Given the description of an element on the screen output the (x, y) to click on. 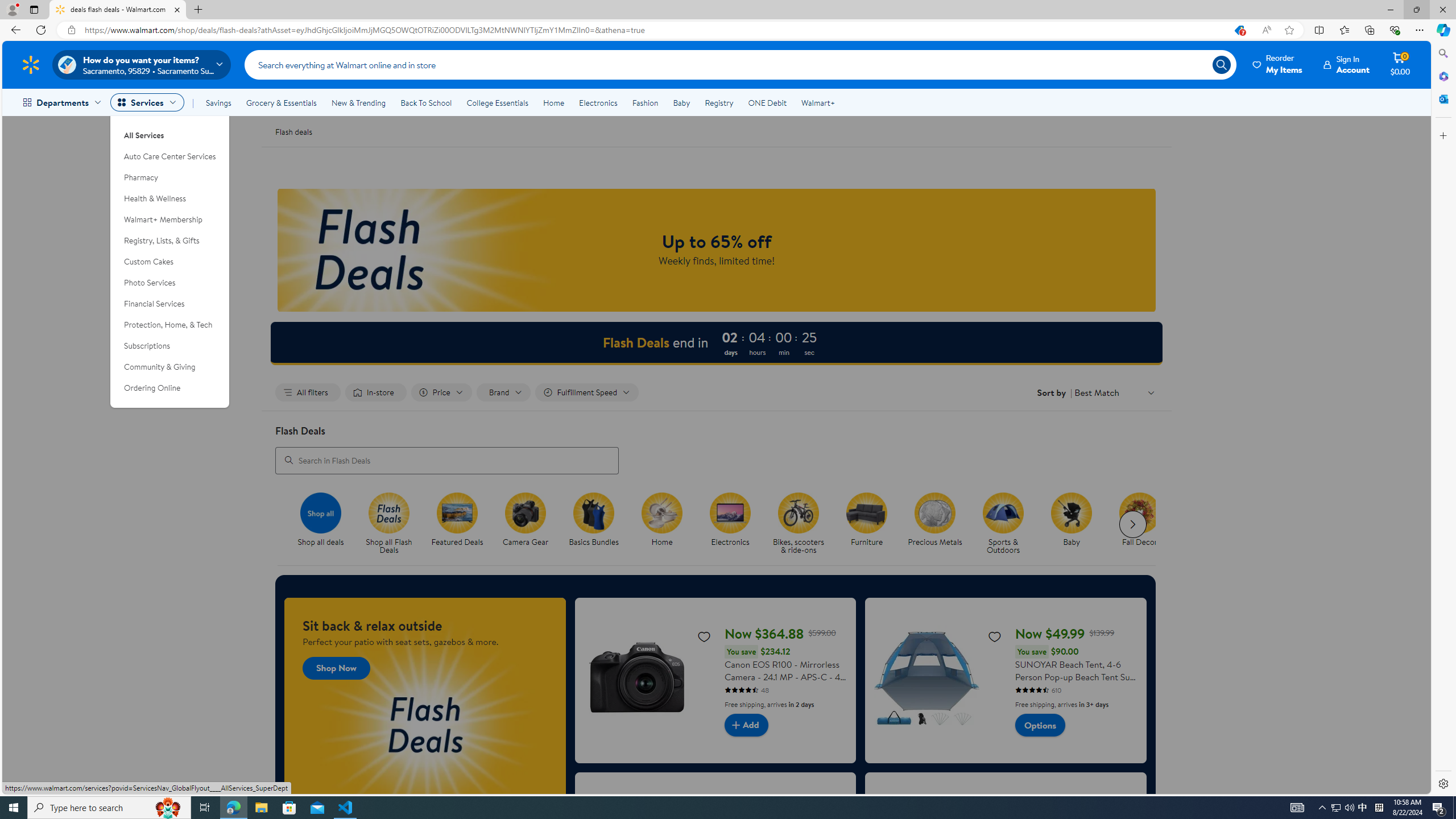
Filter by Brand not applied, activate to change (503, 392)
Walmart+ (817, 102)
Health & Wellness (170, 198)
Filter by In-store (375, 392)
Shop all Flash Deals (393, 524)
Sort by Best Match (1114, 392)
Basics Bundles Basics Bundles (593, 519)
Walmart+ (817, 102)
Auto Care Center Services (170, 156)
Grocery & Essentials (280, 102)
